Given the description of an element on the screen output the (x, y) to click on. 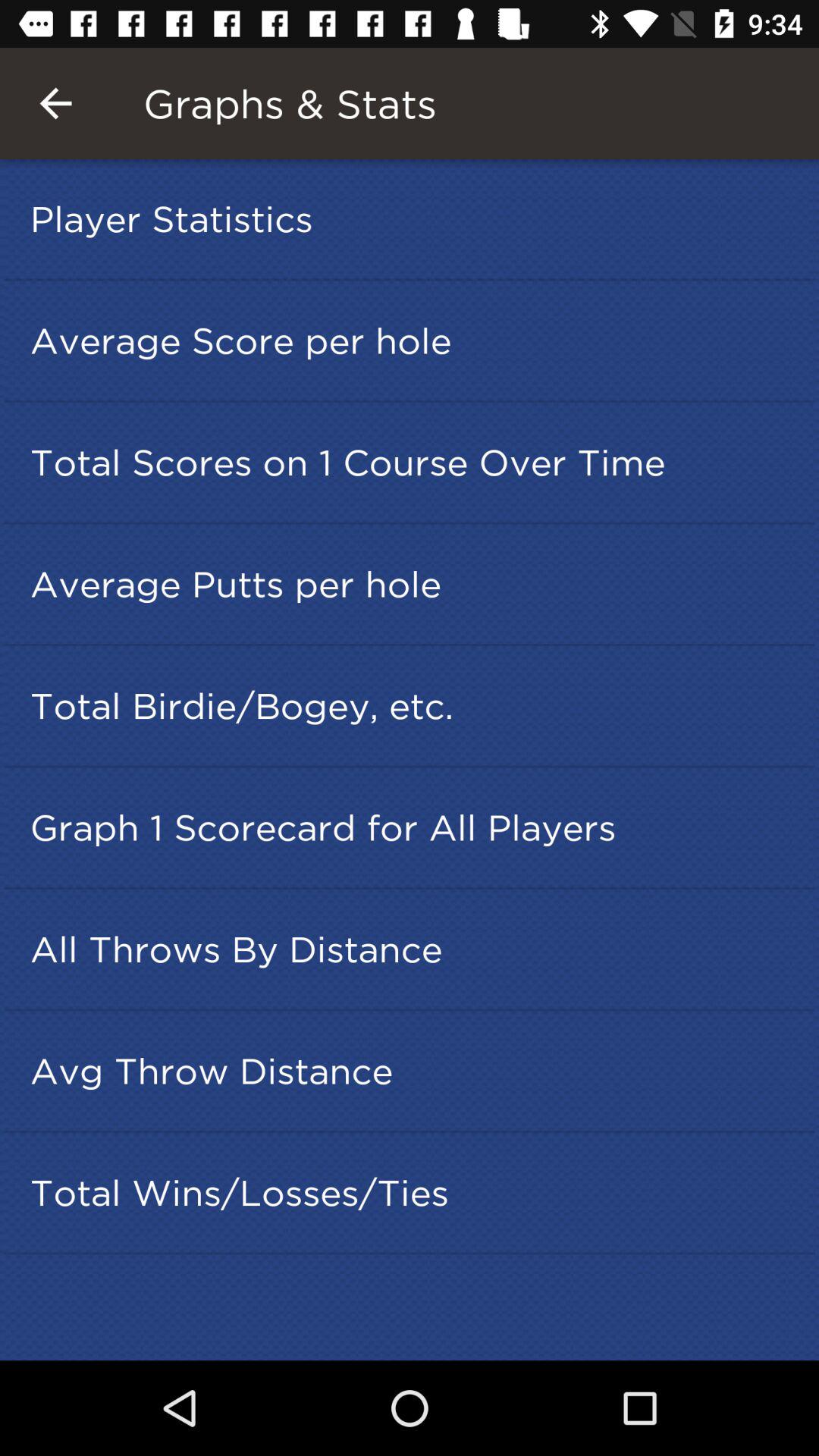
tap icon above total wins losses item (414, 1070)
